Given the description of an element on the screen output the (x, y) to click on. 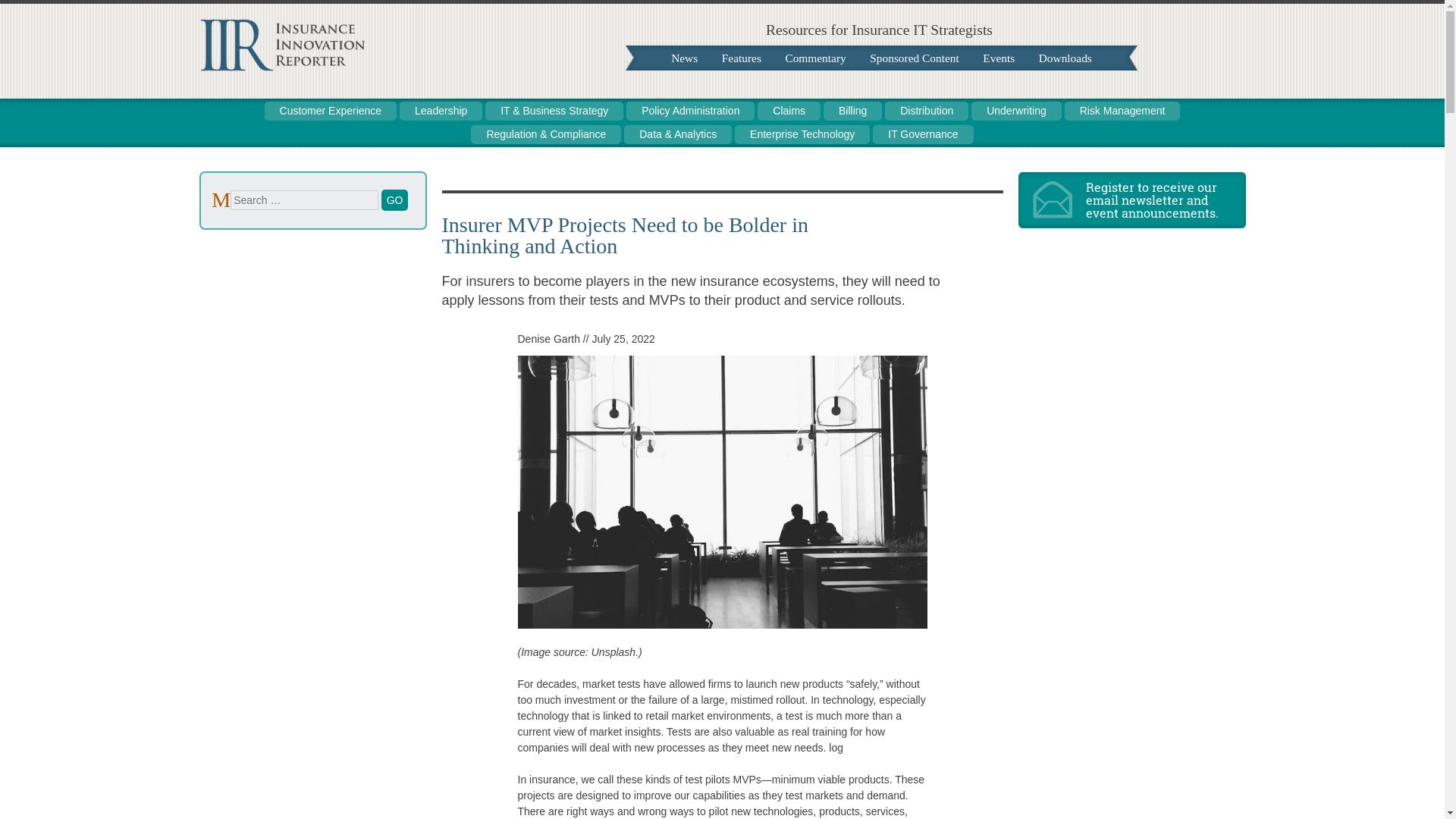
Distribution (926, 110)
Downloads (1064, 57)
Insurance Innovation Reporter (281, 67)
Commentary (815, 57)
Skip to content (679, 57)
Customer Experience (330, 110)
Sponsored Content (914, 57)
Underwriting (1016, 110)
Enterprise Technology (802, 134)
Features (741, 57)
